Given the description of an element on the screen output the (x, y) to click on. 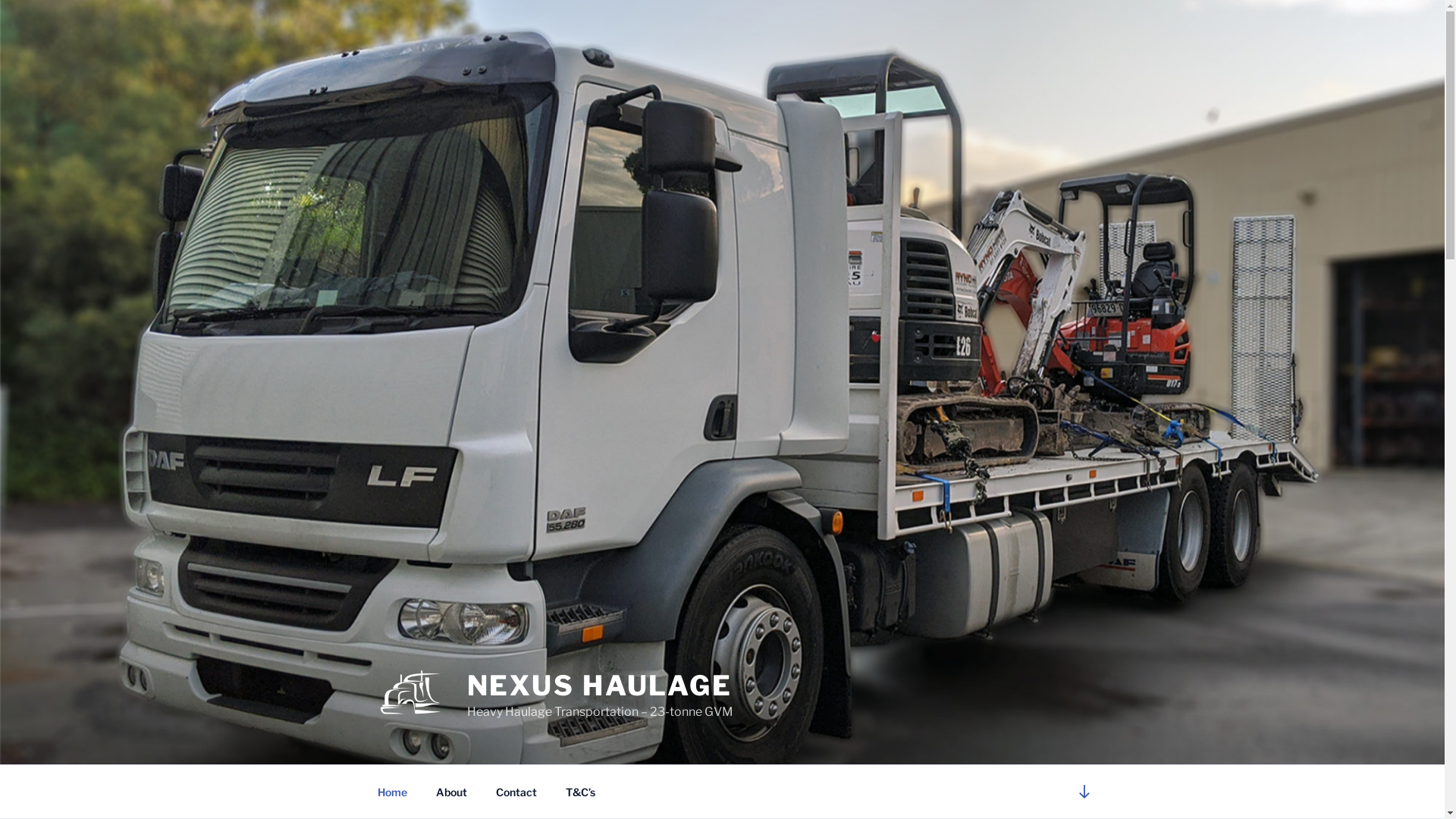
Scroll down to content Element type: text (1083, 790)
Home Element type: text (392, 791)
About Element type: text (451, 791)
Contact Element type: text (515, 791)
NEXUS HAULAGE Element type: text (599, 685)
